Given the description of an element on the screen output the (x, y) to click on. 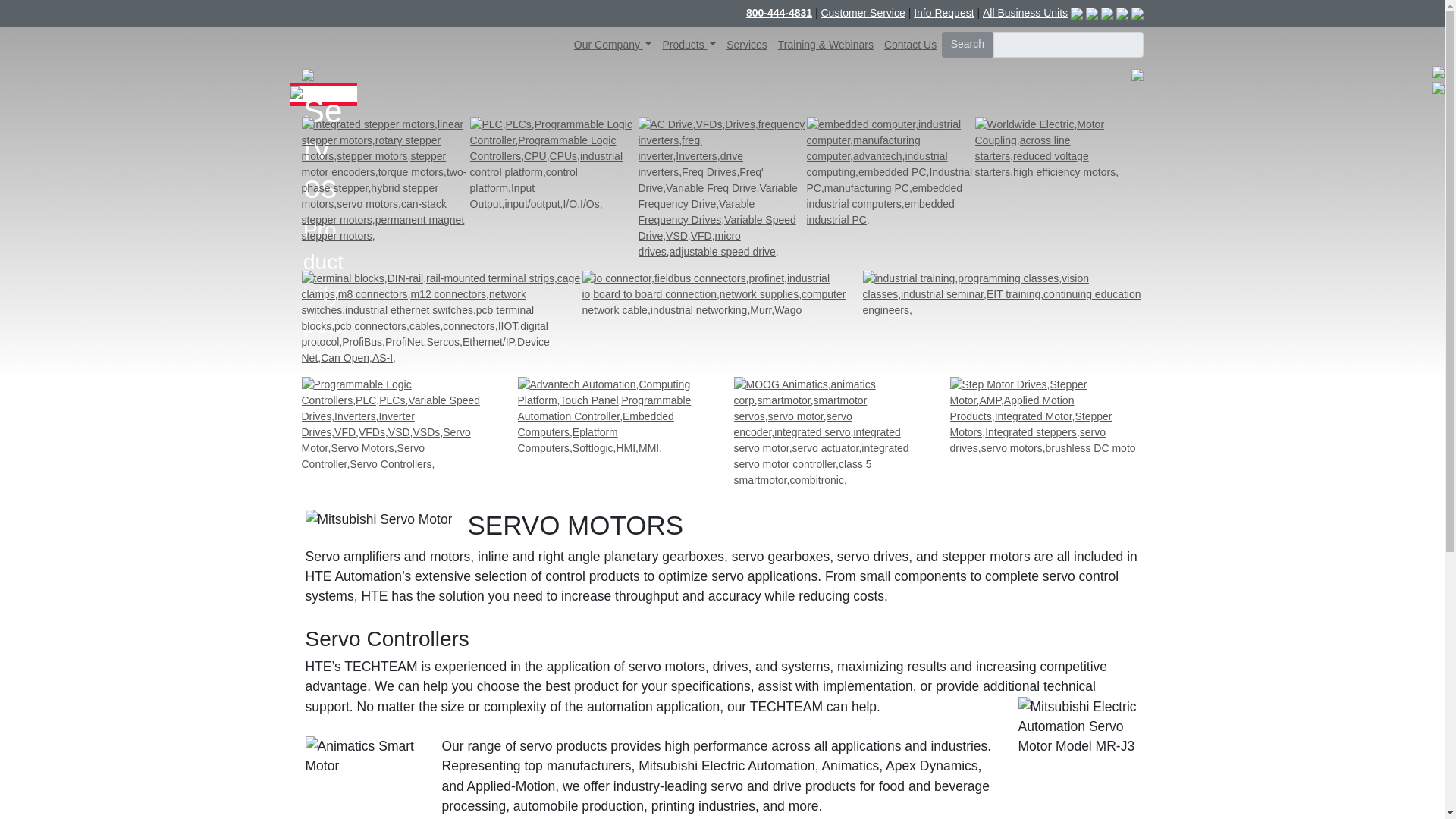
Contact Us (910, 44)
Controls Connectivity (441, 317)
Services (746, 44)
Stepper Motor (385, 180)
Embedded Computers (890, 172)
Info Request (944, 12)
Factory Automation Solutions (398, 423)
800-444-4831 (778, 12)
Search (967, 44)
Industrial IoT (722, 293)
